Given the description of an element on the screen output the (x, y) to click on. 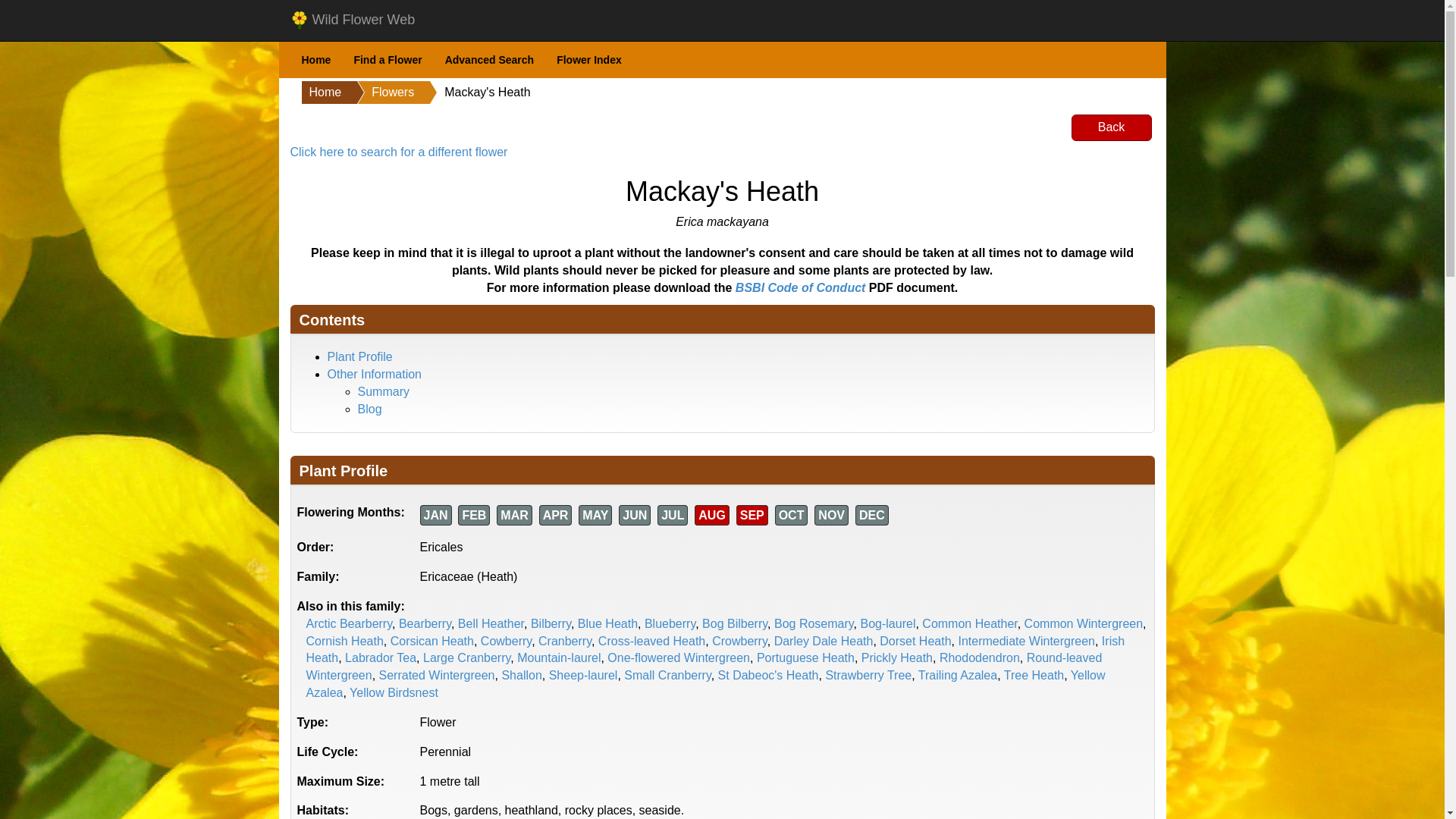
Cranberry (564, 640)
Corsican Heath (432, 640)
Arctic Bearberry (349, 623)
Click here to search for a different flower (397, 151)
Cross-leaved Heath (651, 640)
Dorset Heath (914, 640)
Bog-laurel (887, 623)
Home (315, 60)
Common Wintergreen (1083, 623)
Cornish Heath (344, 640)
